Given the description of an element on the screen output the (x, y) to click on. 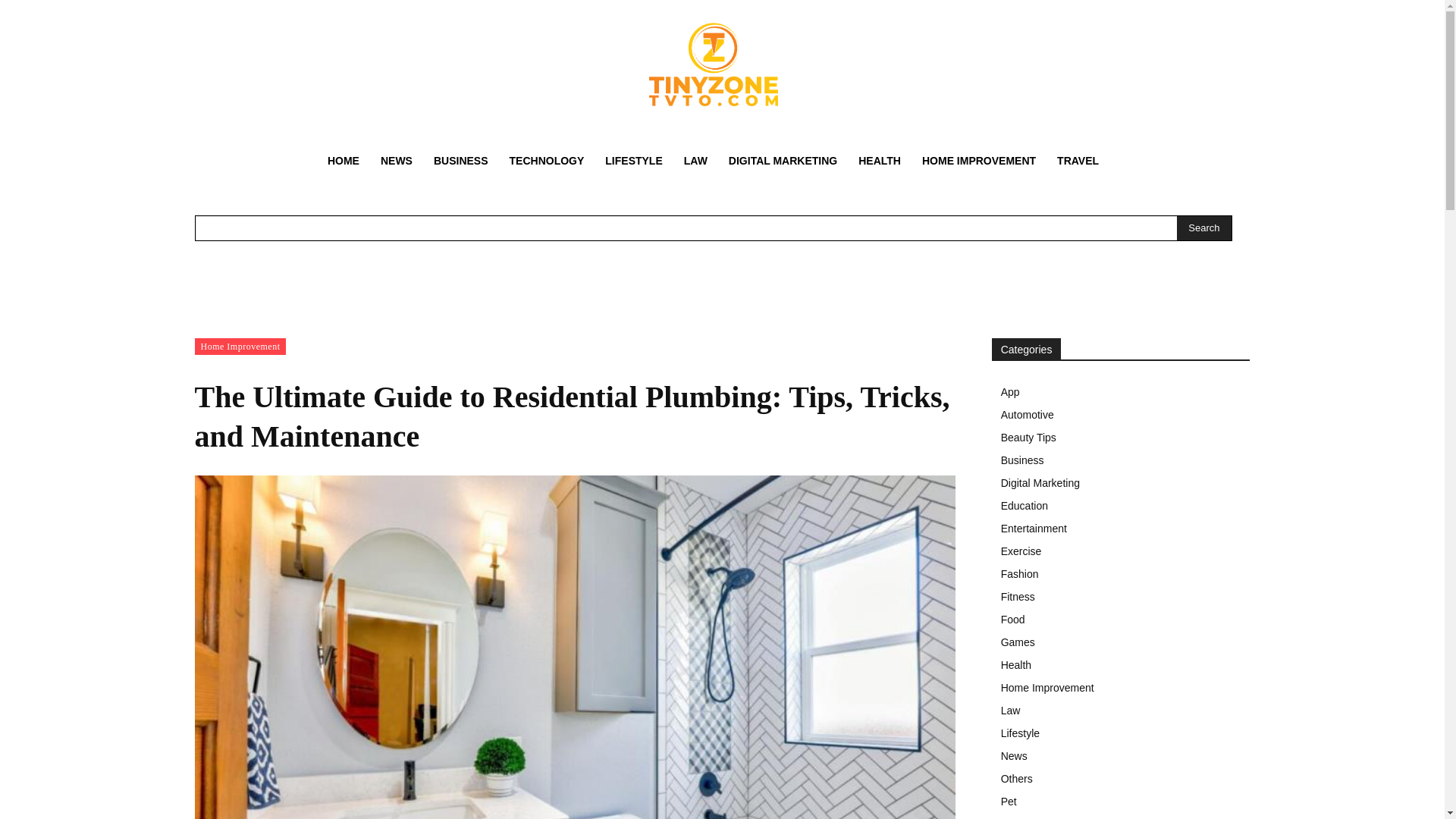
HOME (343, 160)
Automotive (1120, 414)
BUSINESS (461, 160)
TECHNOLOGY (547, 160)
LAW (694, 160)
NEWS (396, 160)
Search (1203, 228)
HEALTH (879, 160)
App (1120, 391)
HOME IMPROVEMENT (978, 160)
TRAVEL (1077, 160)
Beauty Tips (1120, 436)
DIGITAL MARKETING (782, 160)
LIFESTYLE (633, 160)
